Given the description of an element on the screen output the (x, y) to click on. 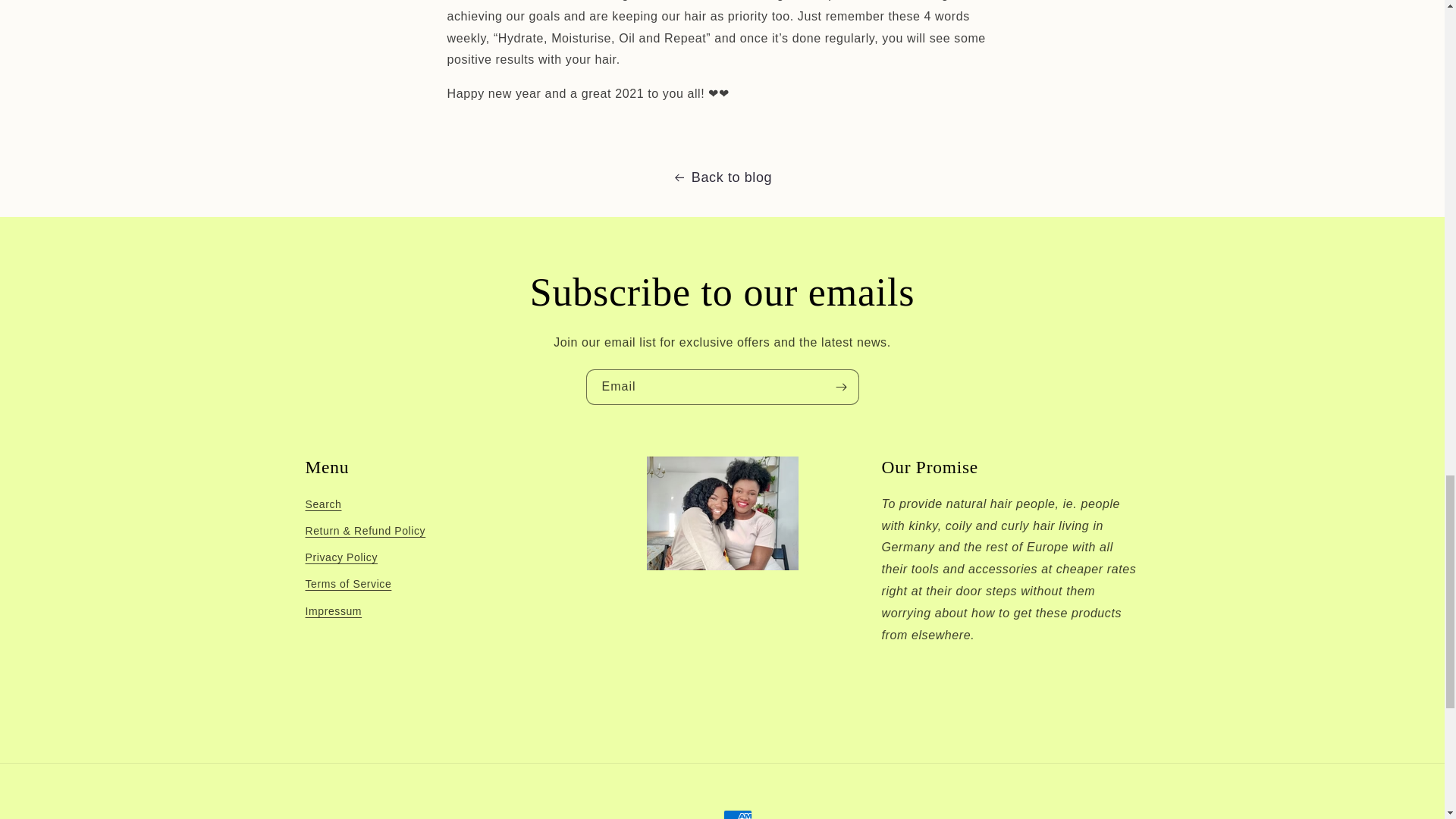
Impressum (332, 610)
American Express (737, 814)
Terms of Service (347, 583)
Search (322, 506)
Privacy Policy (340, 557)
